Given the description of an element on the screen output the (x, y) to click on. 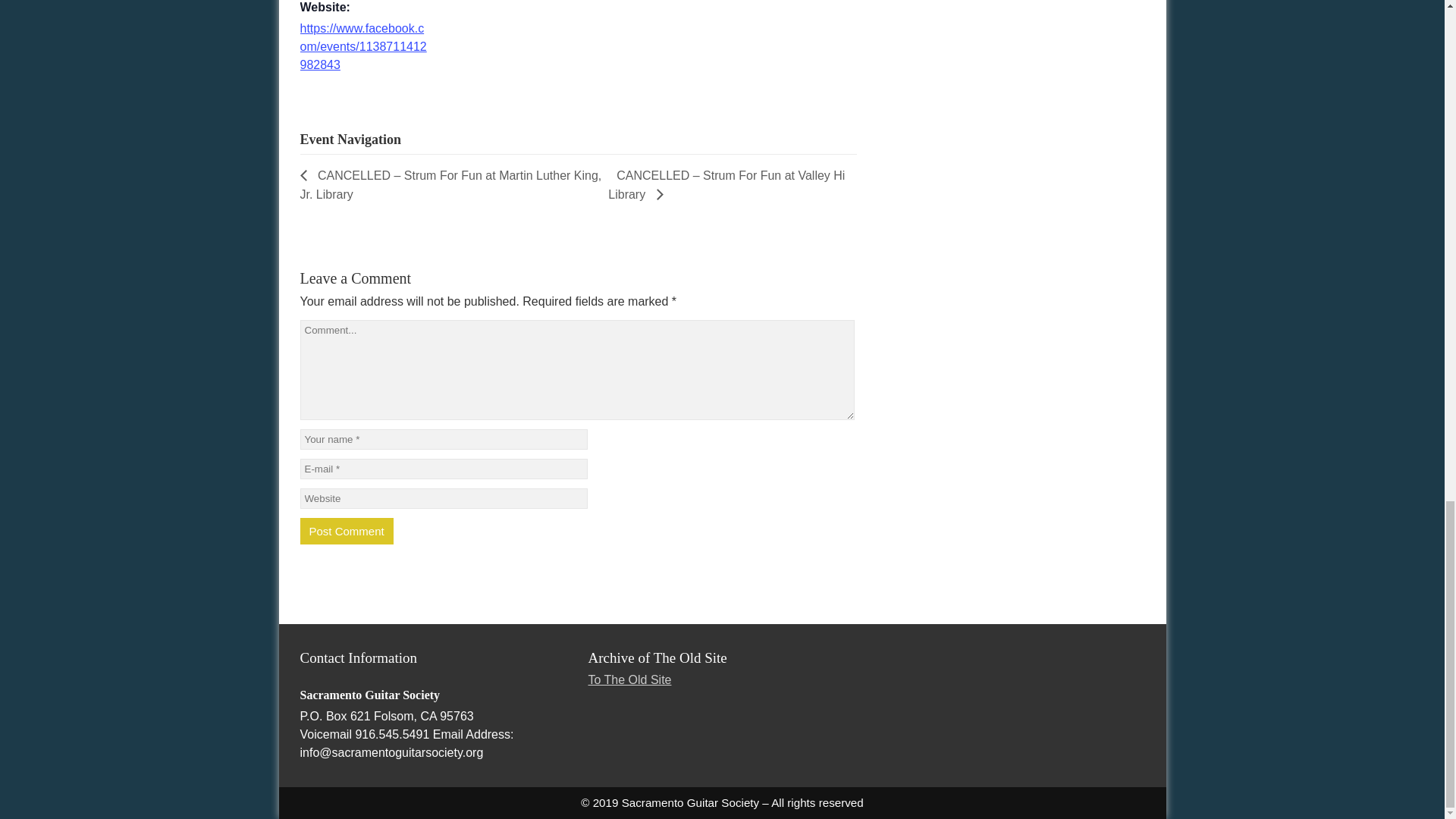
Post Comment (346, 530)
Post Comment (346, 530)
Archive of The Old Site (722, 657)
